Given the description of an element on the screen output the (x, y) to click on. 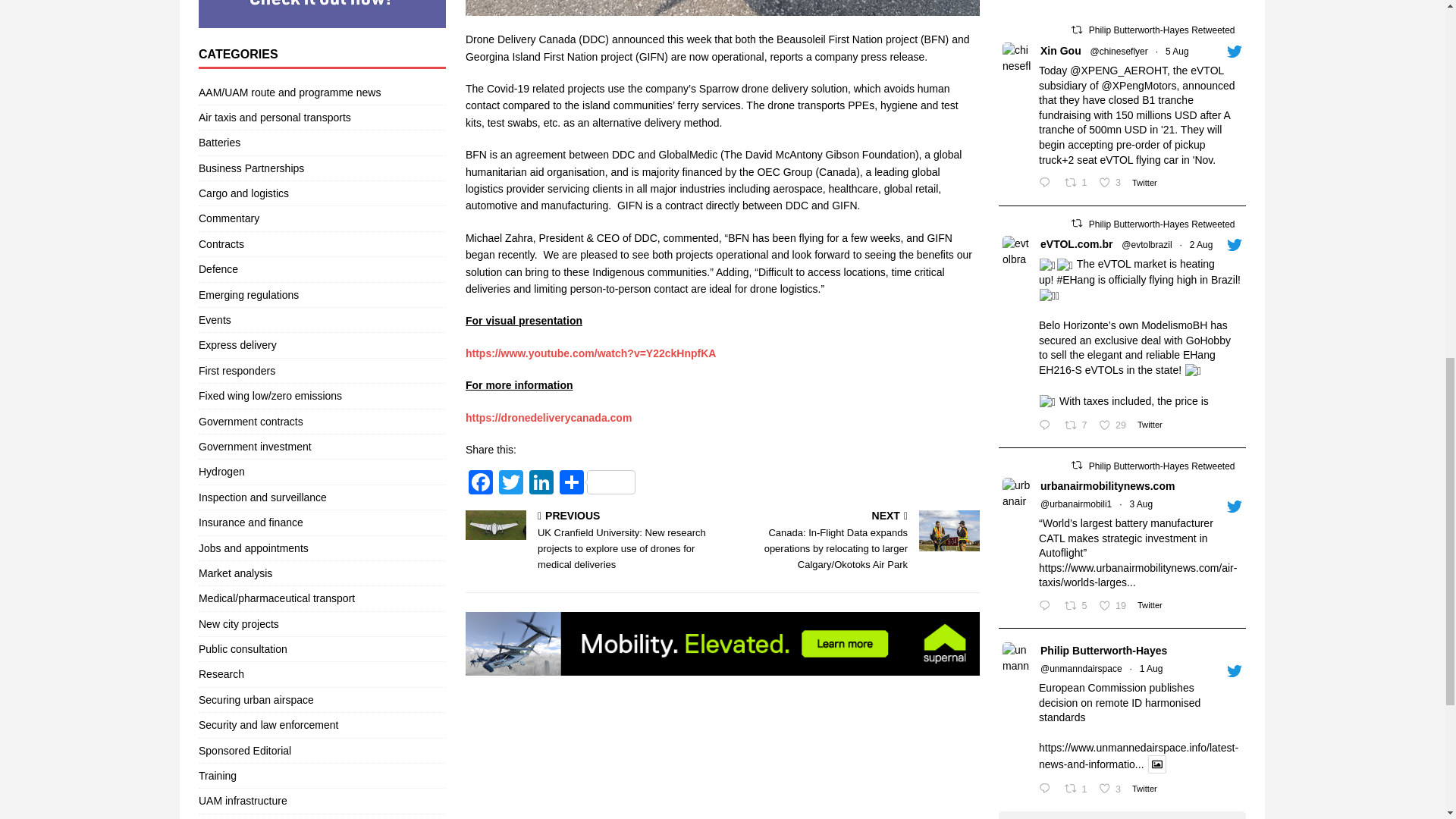
Twitter (510, 483)
LinkedIn (540, 483)
LinkedIn (540, 483)
Facebook (480, 483)
Twitter (510, 483)
Facebook (480, 483)
Drone - DDC (722, 8)
